Given the description of an element on the screen output the (x, y) to click on. 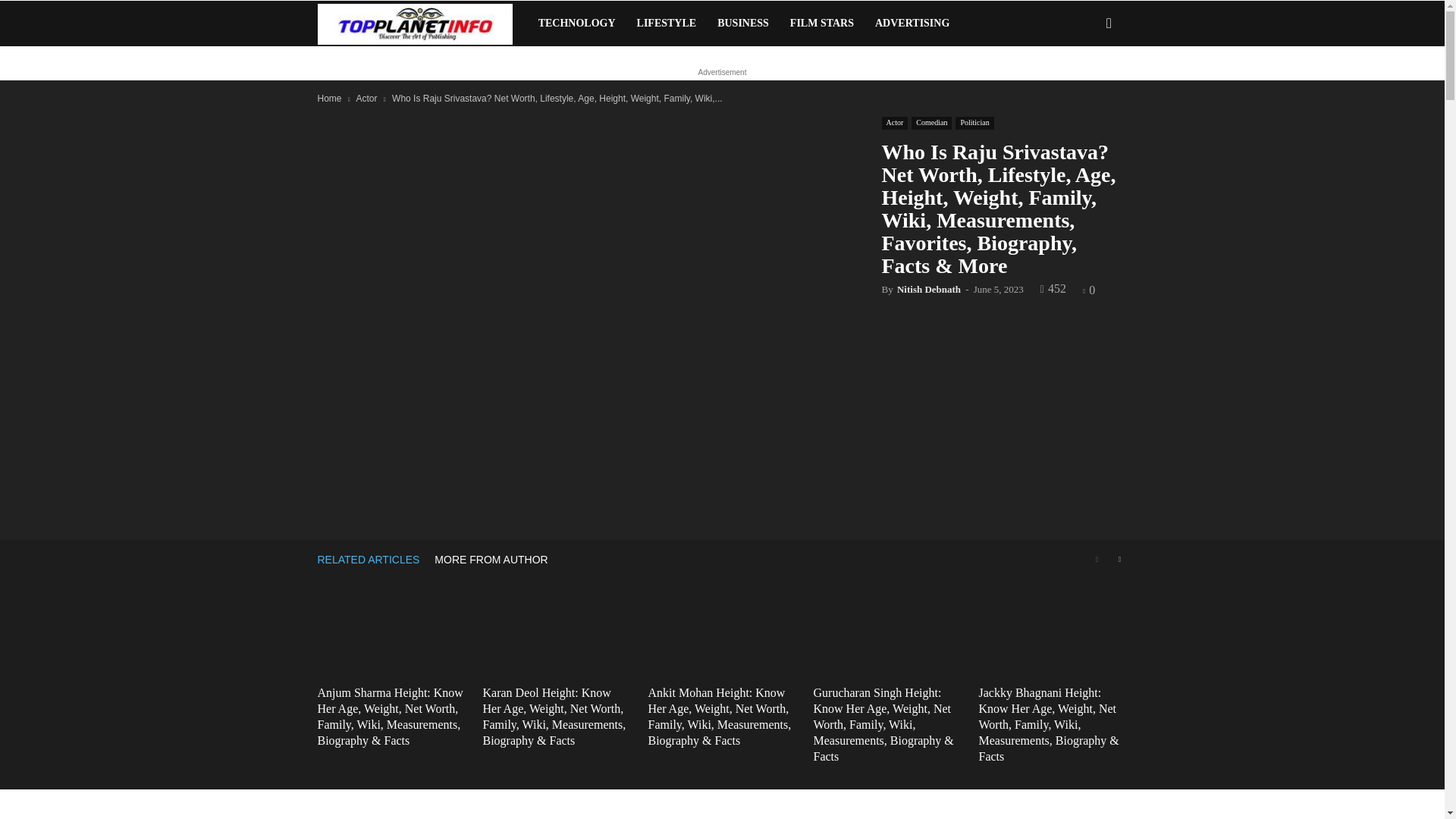
LIFESTYLE (666, 22)
TECHNOLOGY (576, 22)
